Given the description of an element on the screen output the (x, y) to click on. 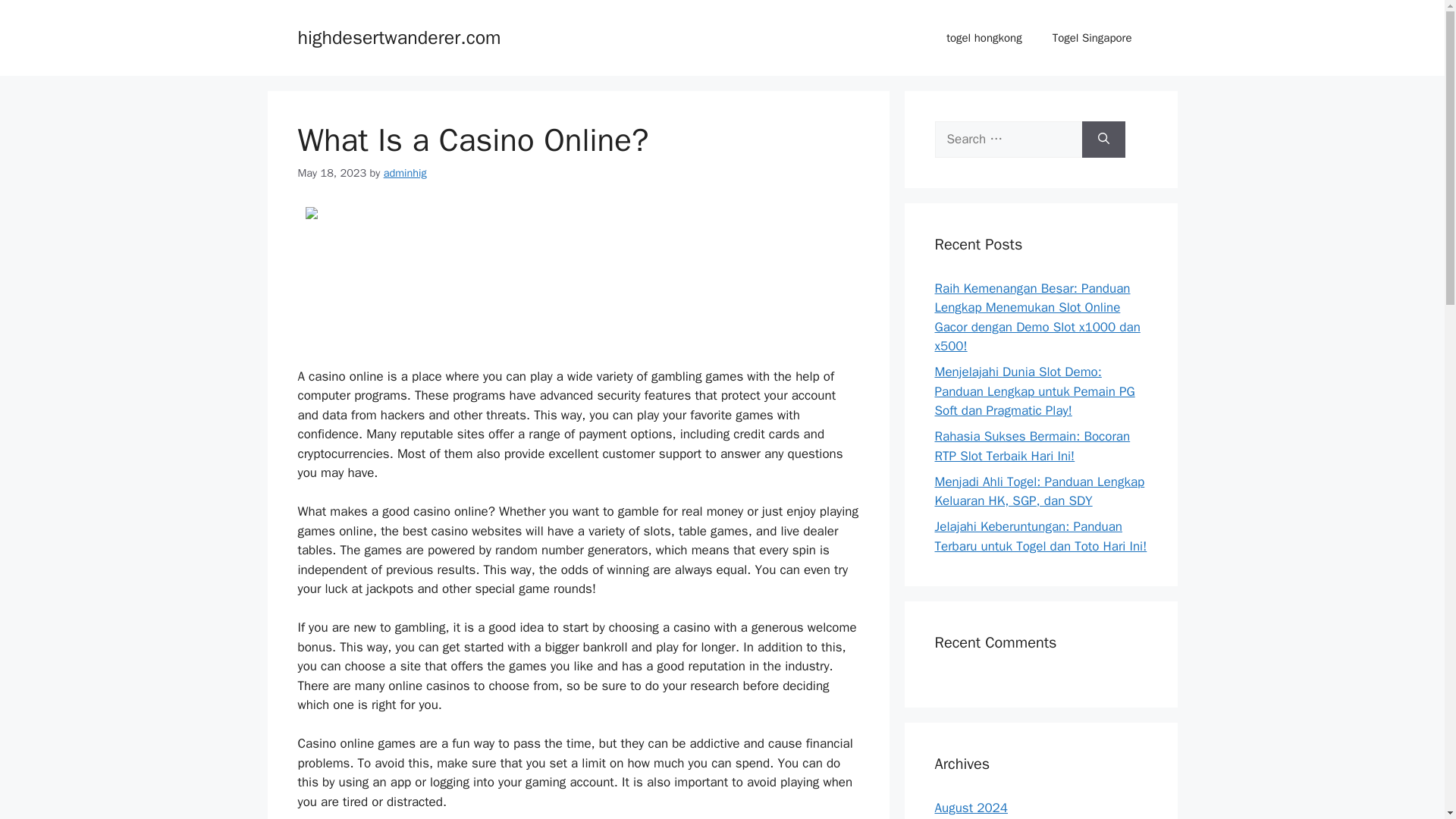
Togel Singapore (1091, 37)
highdesertwanderer.com (398, 37)
togel hongkong (983, 37)
Rahasia Sukses Bermain: Bocoran RTP Slot Terbaik Hari Ini! (1031, 446)
View all posts by adminhig (405, 172)
August 2024 (970, 807)
Search for: (1007, 139)
adminhig (405, 172)
